Given the description of an element on the screen output the (x, y) to click on. 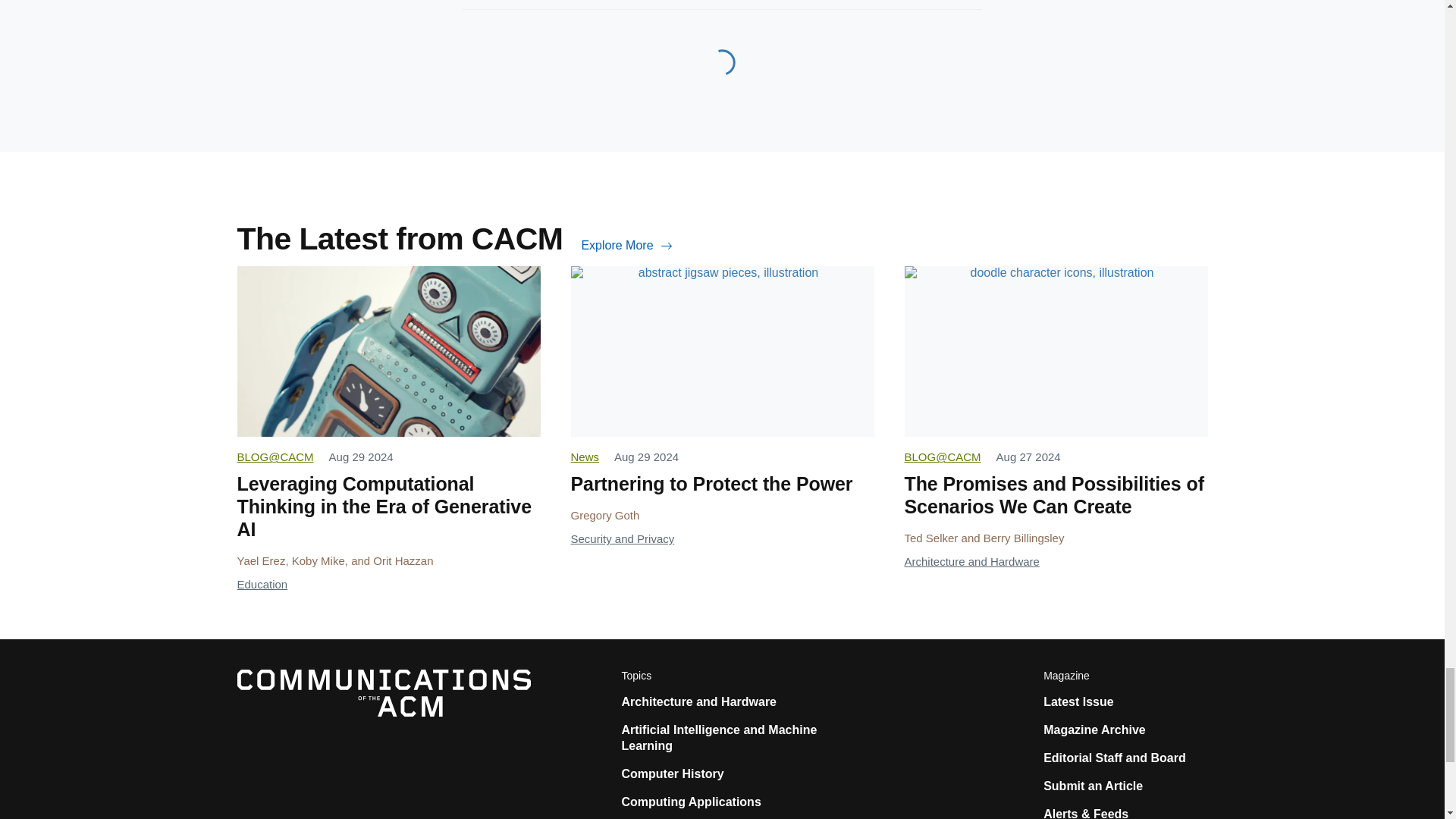
Posts by Koby Mike (318, 560)
Posts by Gregory Goth (604, 514)
Posts by Yael Erez (260, 560)
Posts by Orit Hazzan (402, 560)
Posts by Ted Selker (931, 537)
